Given the description of an element on the screen output the (x, y) to click on. 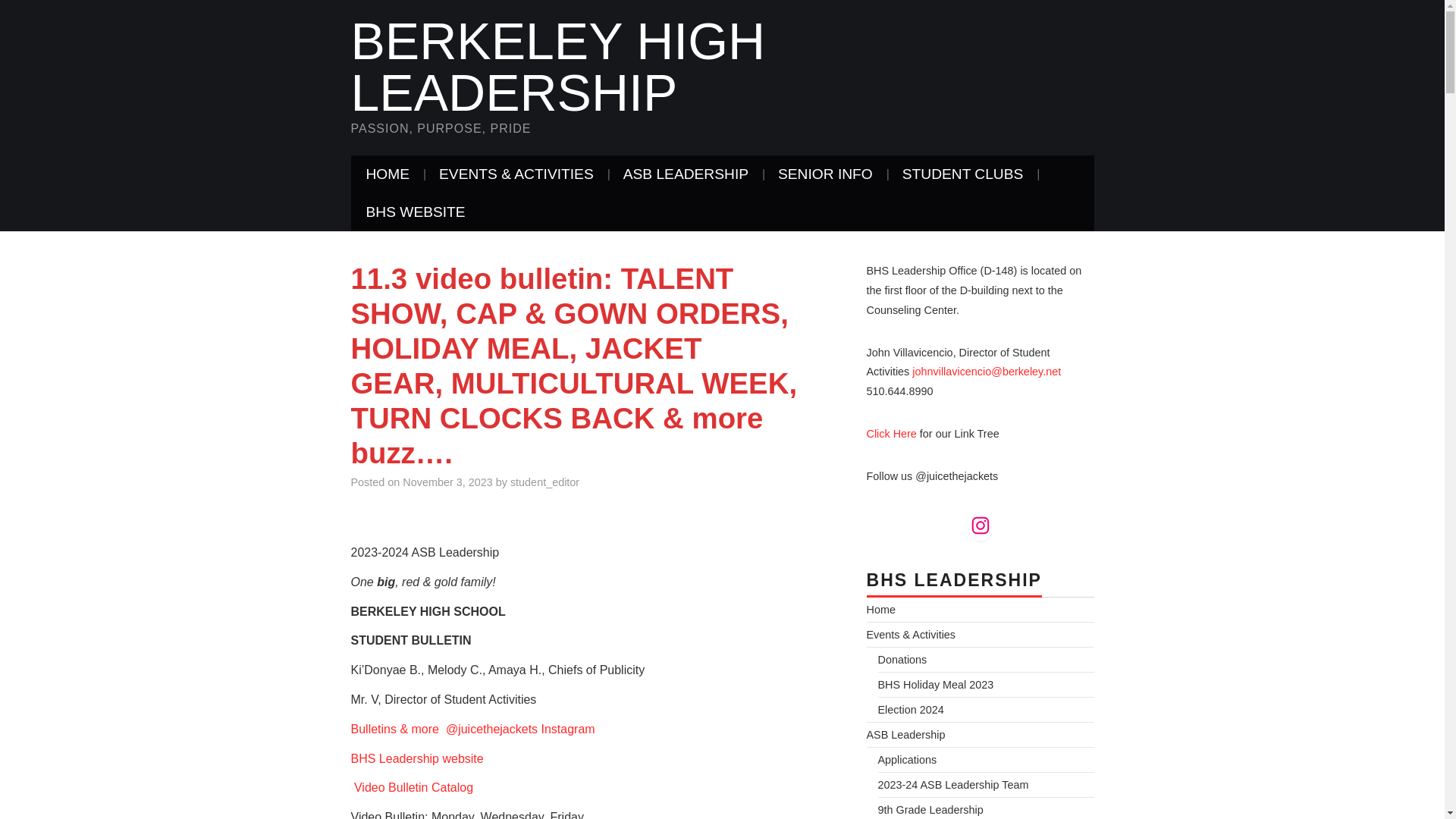
9:17 am (447, 481)
ASB LEADERSHIP (685, 174)
BHS Leadership website (416, 758)
BERKELEY HIGH LEADERSHIP (557, 66)
STUDENT CLUBS (962, 174)
November 3, 2023 (447, 481)
SENIOR INFO (825, 174)
HOME (387, 174)
Video Bulletin Catalog (413, 787)
BERKELEY HIGH LEADERSHIP (557, 66)
